Given the description of an element on the screen output the (x, y) to click on. 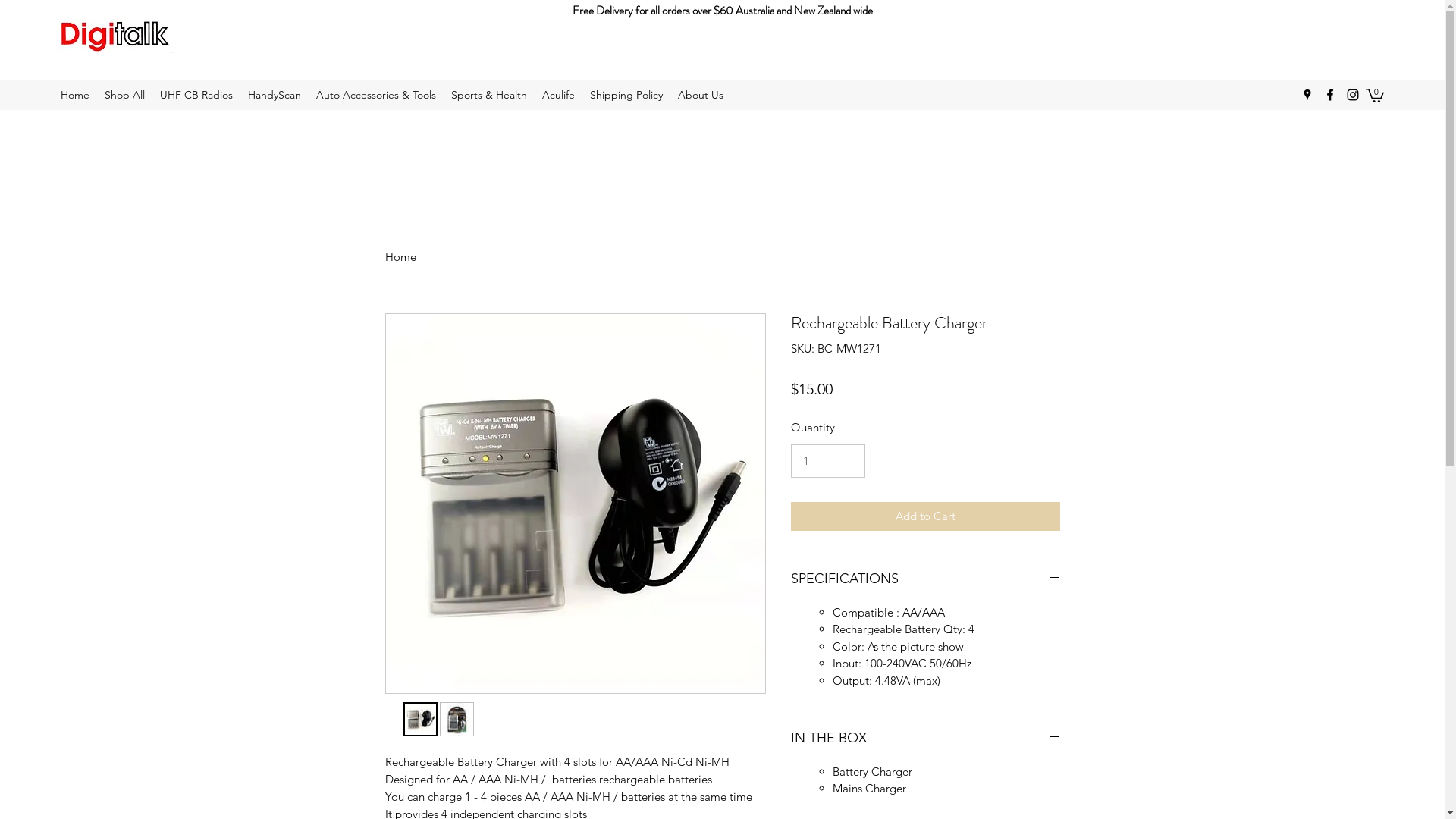
HandyScan Element type: text (274, 94)
Aculife Element type: text (558, 94)
SPECIFICATIONS Element type: text (924, 579)
Auto Accessories & Tools Element type: text (375, 94)
Home Element type: text (75, 94)
IN THE BOX Element type: text (924, 738)
Sports & Health Element type: text (488, 94)
Add to Cart Element type: text (924, 516)
0 Element type: text (1374, 94)
Shop All Element type: text (124, 94)
UHF CB Radios Element type: text (196, 94)
About Us Element type: text (700, 94)
Shipping Policy Element type: text (626, 94)
Home Element type: text (400, 256)
